Given the description of an element on the screen output the (x, y) to click on. 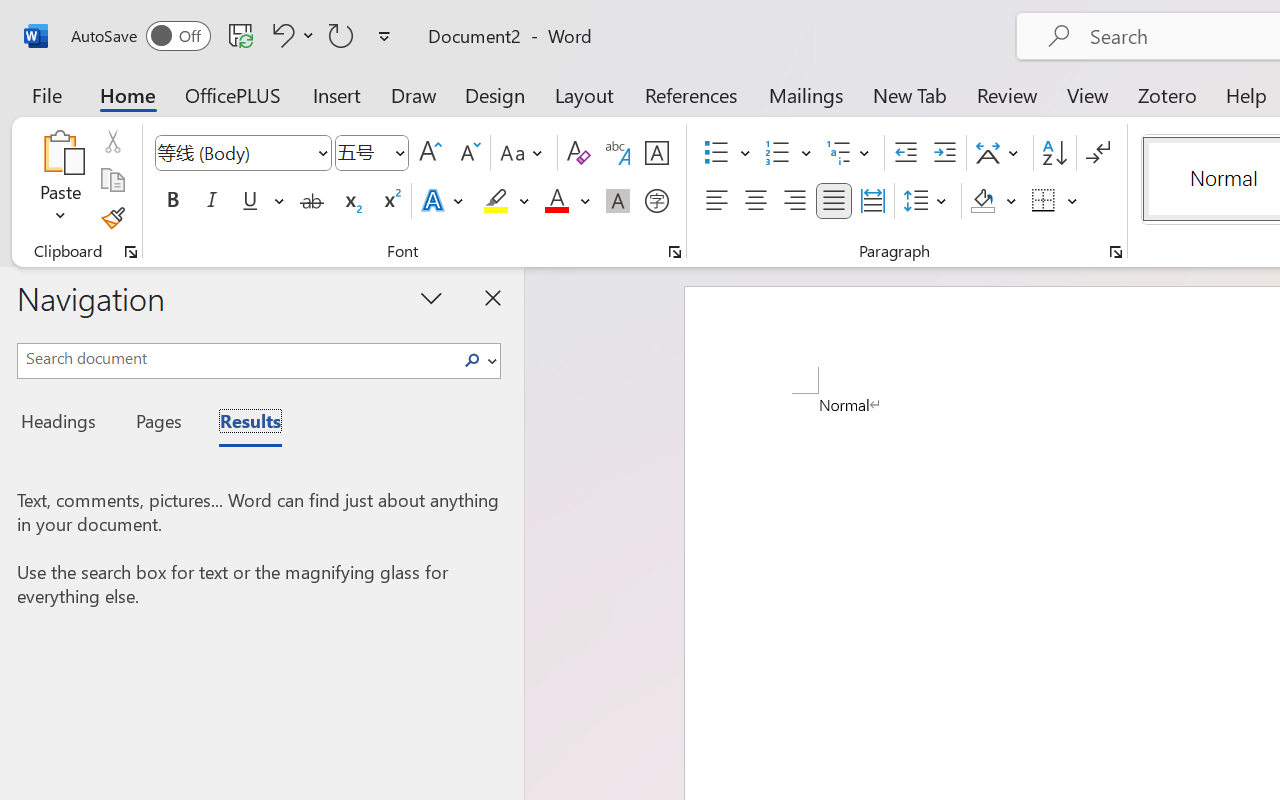
Search document (236, 358)
Underline (261, 201)
View (1087, 94)
Align Left (716, 201)
References (690, 94)
Enclose Characters... (656, 201)
Paste (60, 151)
Borders (1044, 201)
Search (478, 360)
Multilevel List (850, 153)
Character Border (656, 153)
Phonetic Guide... (618, 153)
Character Shading (618, 201)
Undo Apply Quick Style (280, 35)
Search (471, 360)
